Given the description of an element on the screen output the (x, y) to click on. 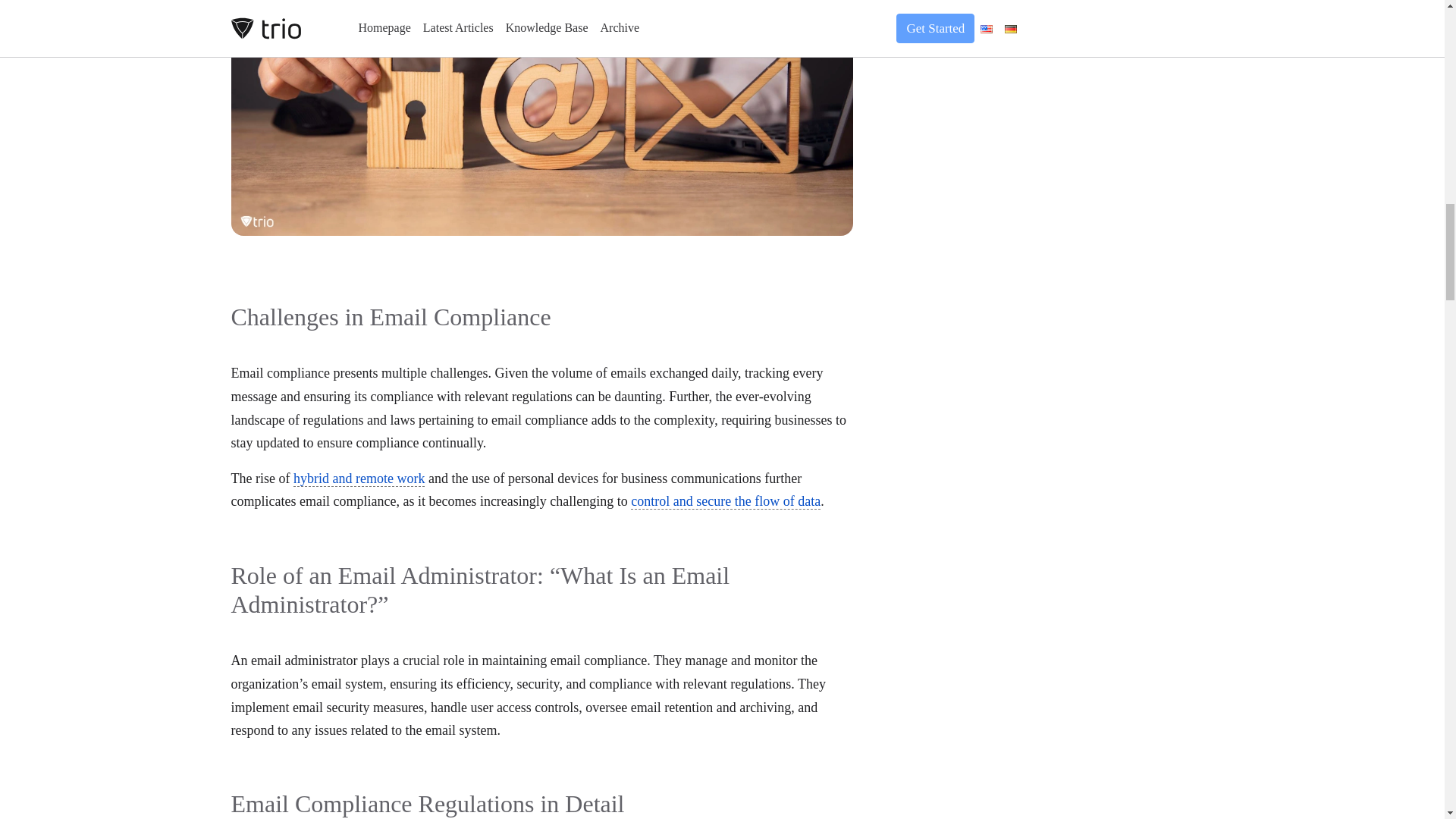
control and secure the flow of data (725, 501)
hybrid and remote work (359, 478)
